Given the description of an element on the screen output the (x, y) to click on. 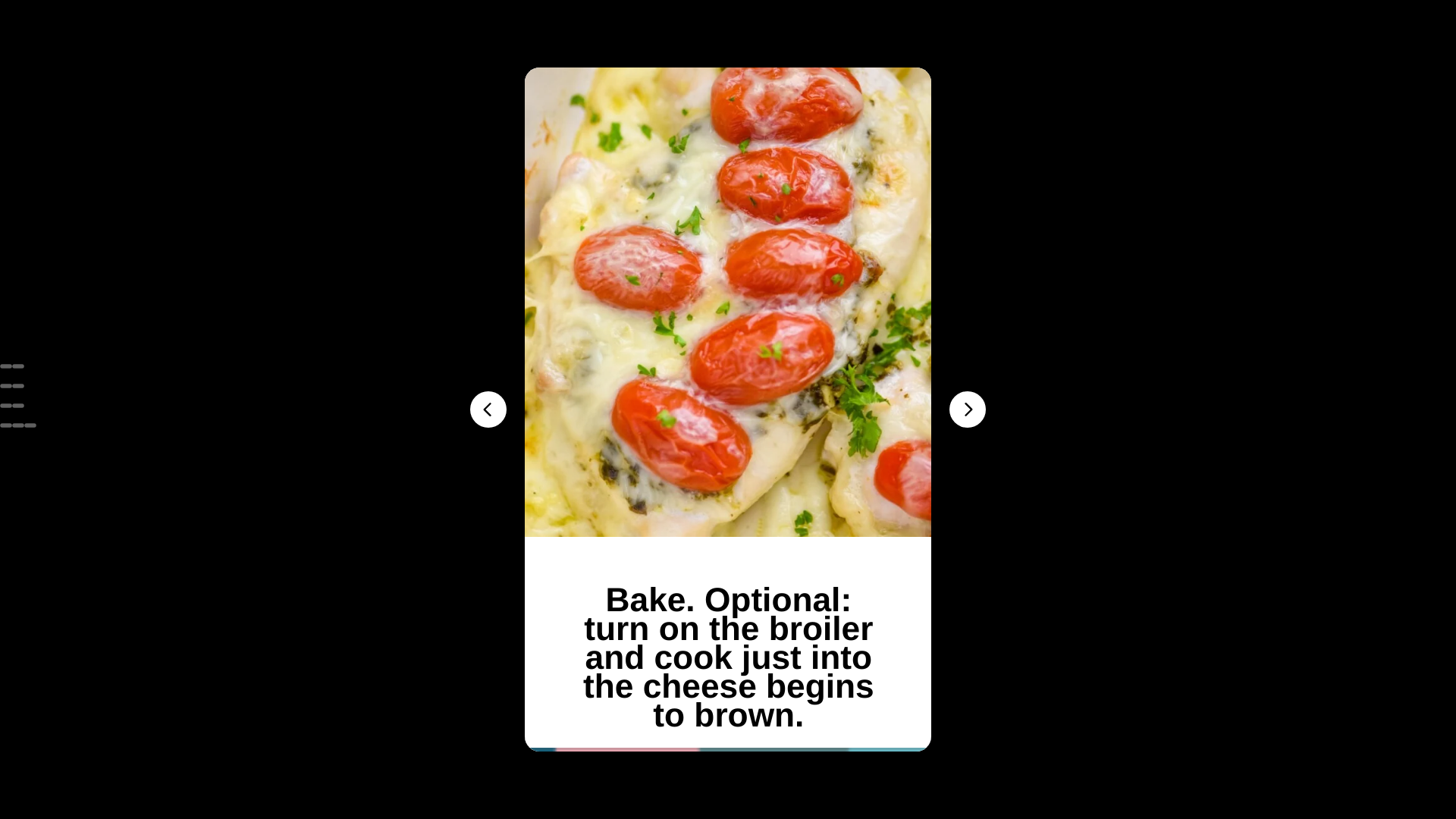
TAP HERE FOR RECIPE! (727, 389)
simplejoy.com (728, 322)
